Given the description of an element on the screen output the (x, y) to click on. 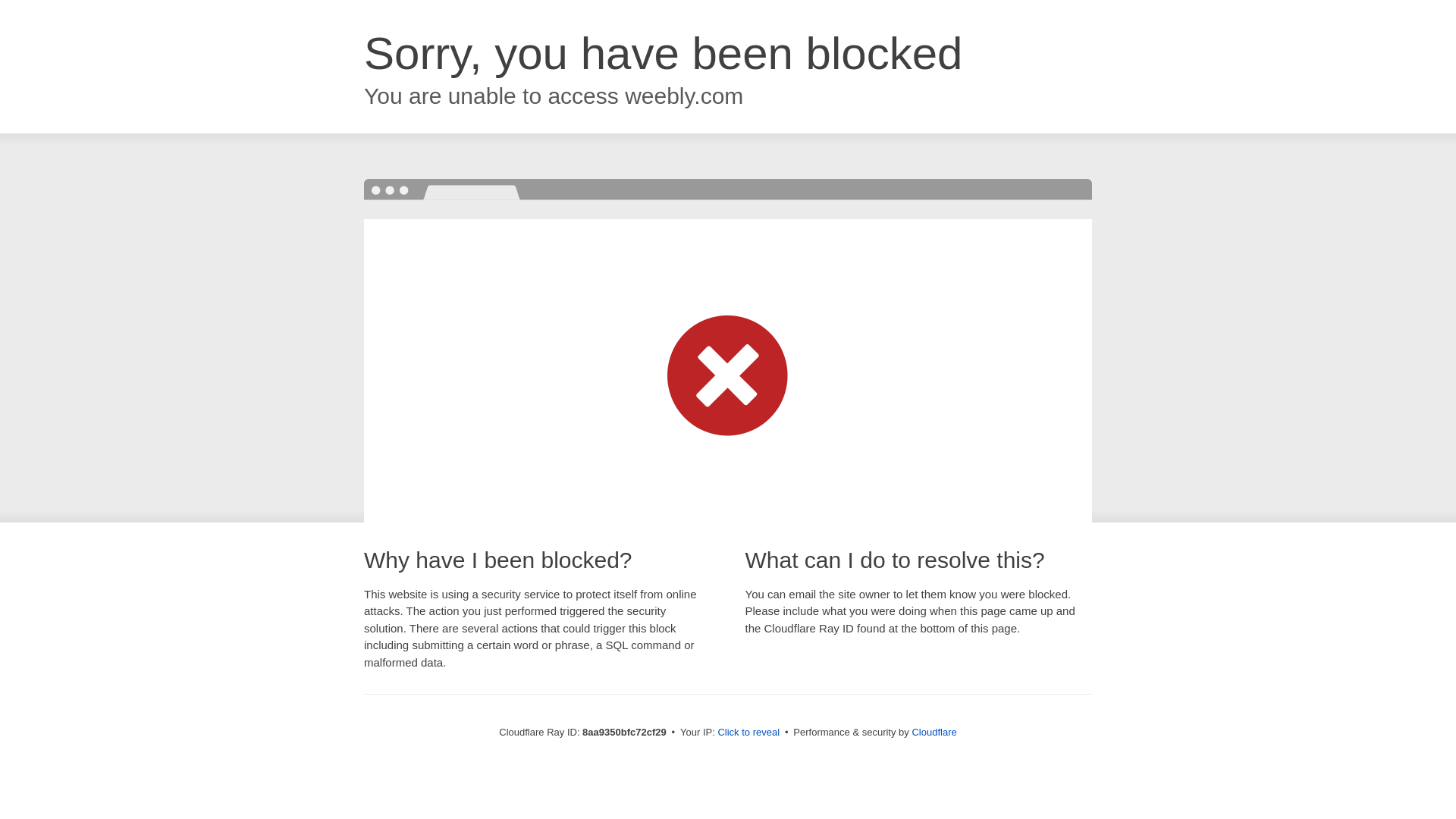
Click to reveal (747, 732)
Cloudflare (933, 731)
